Given the description of an element on the screen output the (x, y) to click on. 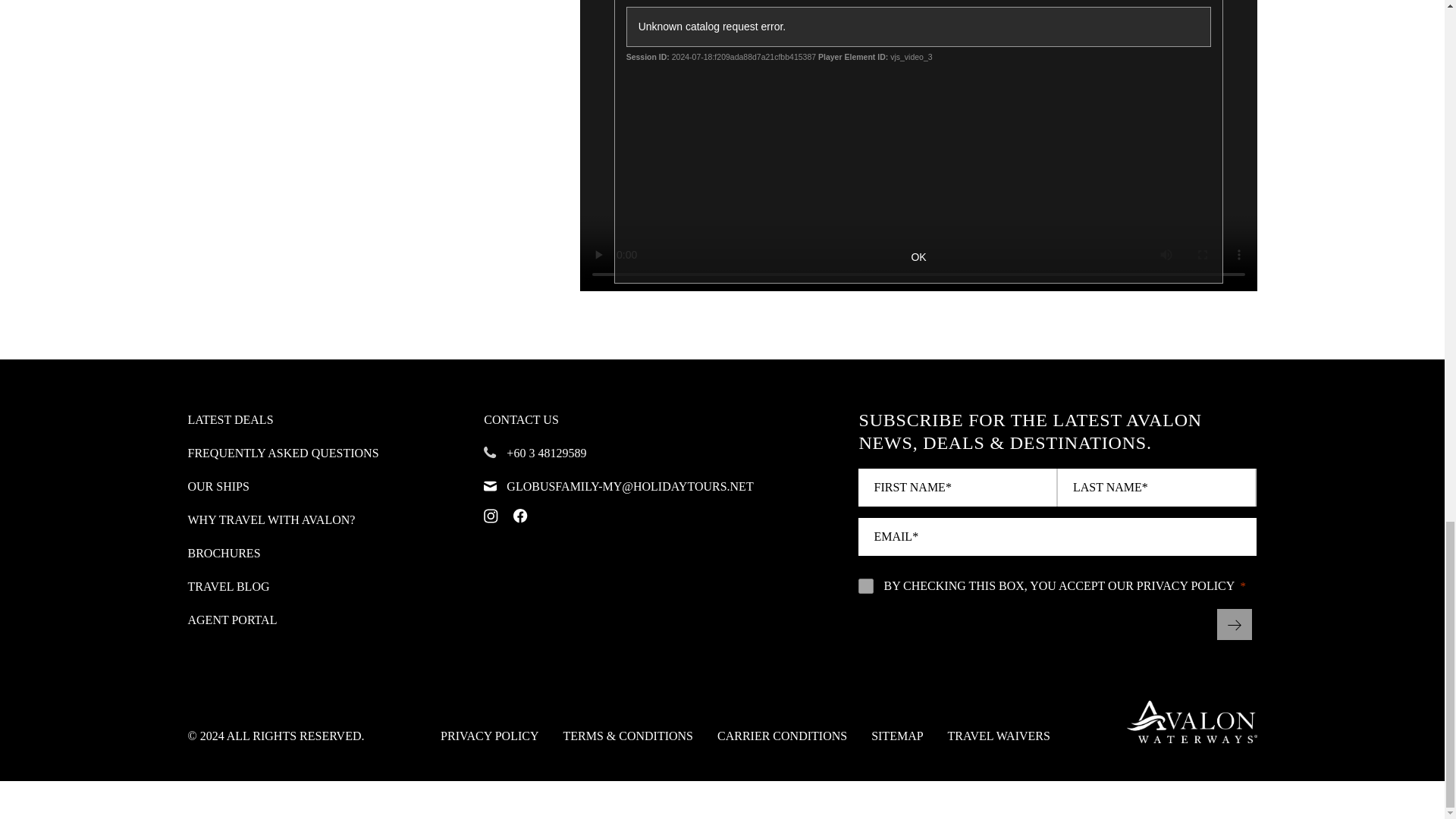
10000000-0000-0000-0000-000000000003;Email;true (866, 585)
Avalon Waterways Instagram (490, 515)
Avalon Waterways Facebook (520, 515)
Last Name (1157, 487)
First Name (958, 487)
Email (1057, 536)
